Given the description of an element on the screen output the (x, y) to click on. 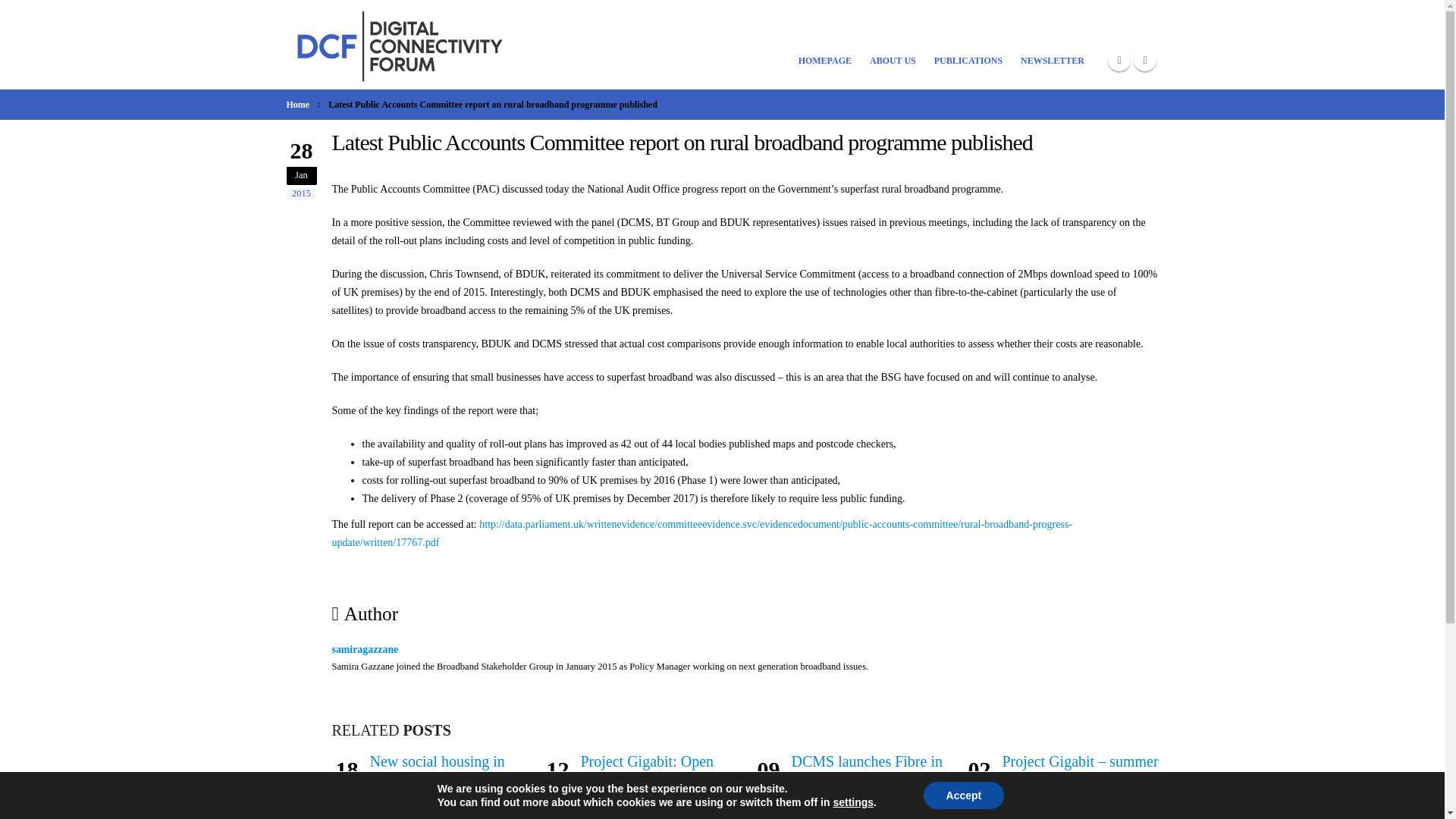
Twitter (1119, 59)
NEWSLETTER (1052, 44)
LinkedIn (1145, 59)
Posts by samiragazzane (364, 649)
Home (298, 104)
samiragazzane (364, 649)
settings (852, 802)
DCMS launches Fibre in Water open competition (867, 771)
PUBLICATIONS (967, 44)
Accept (963, 795)
